Given the description of an element on the screen output the (x, y) to click on. 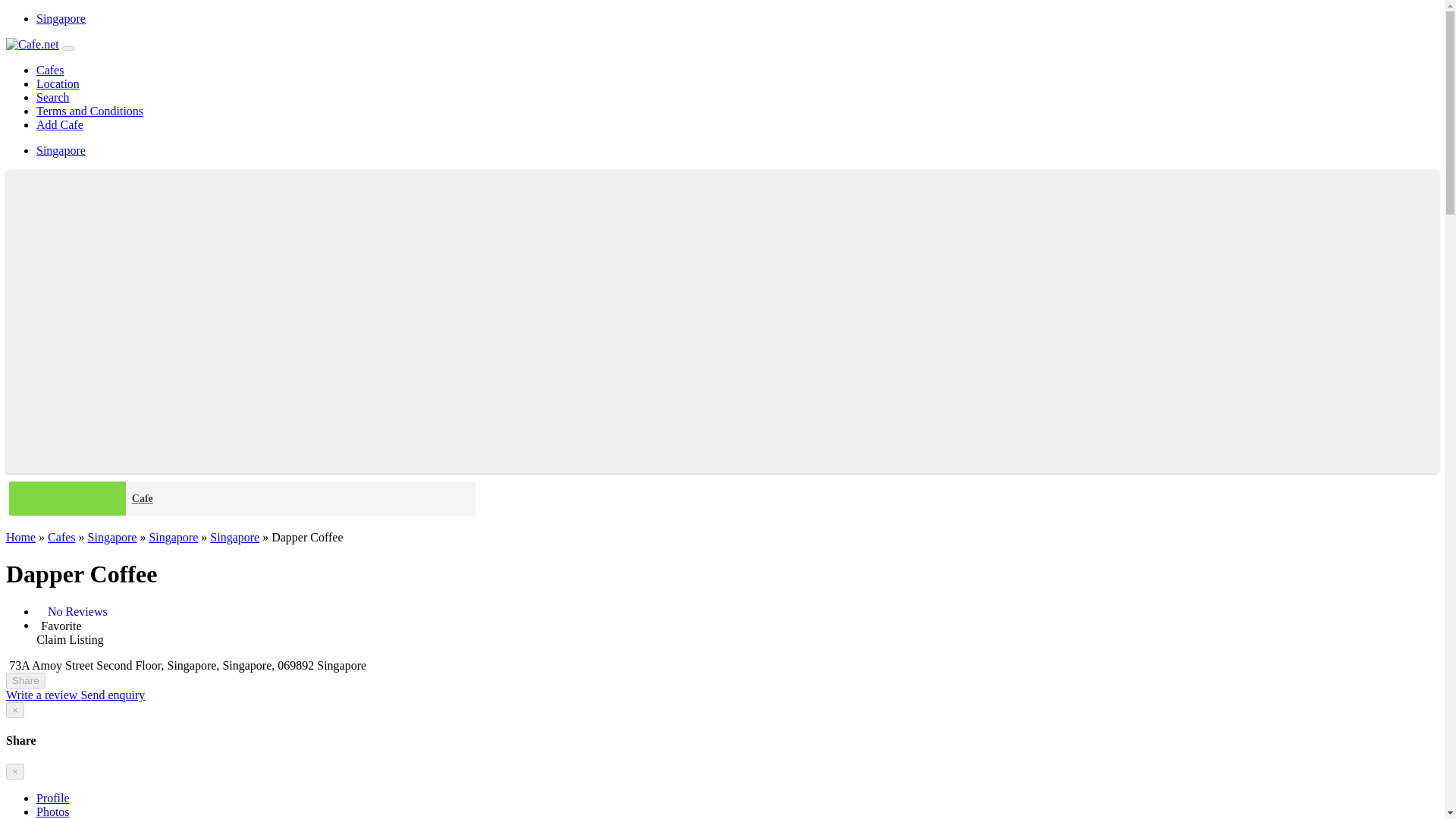
Add Cafe (59, 124)
Claim Listing (69, 639)
Location (58, 83)
Profile (52, 797)
Cafe (300, 498)
Terms and Conditions (89, 110)
 Singapore (60, 18)
Singapore (173, 536)
Location (58, 83)
Cafes (50, 69)
 Singapore (60, 150)
Send enquiry (112, 694)
Search (52, 97)
Photos (52, 811)
